Given the description of an element on the screen output the (x, y) to click on. 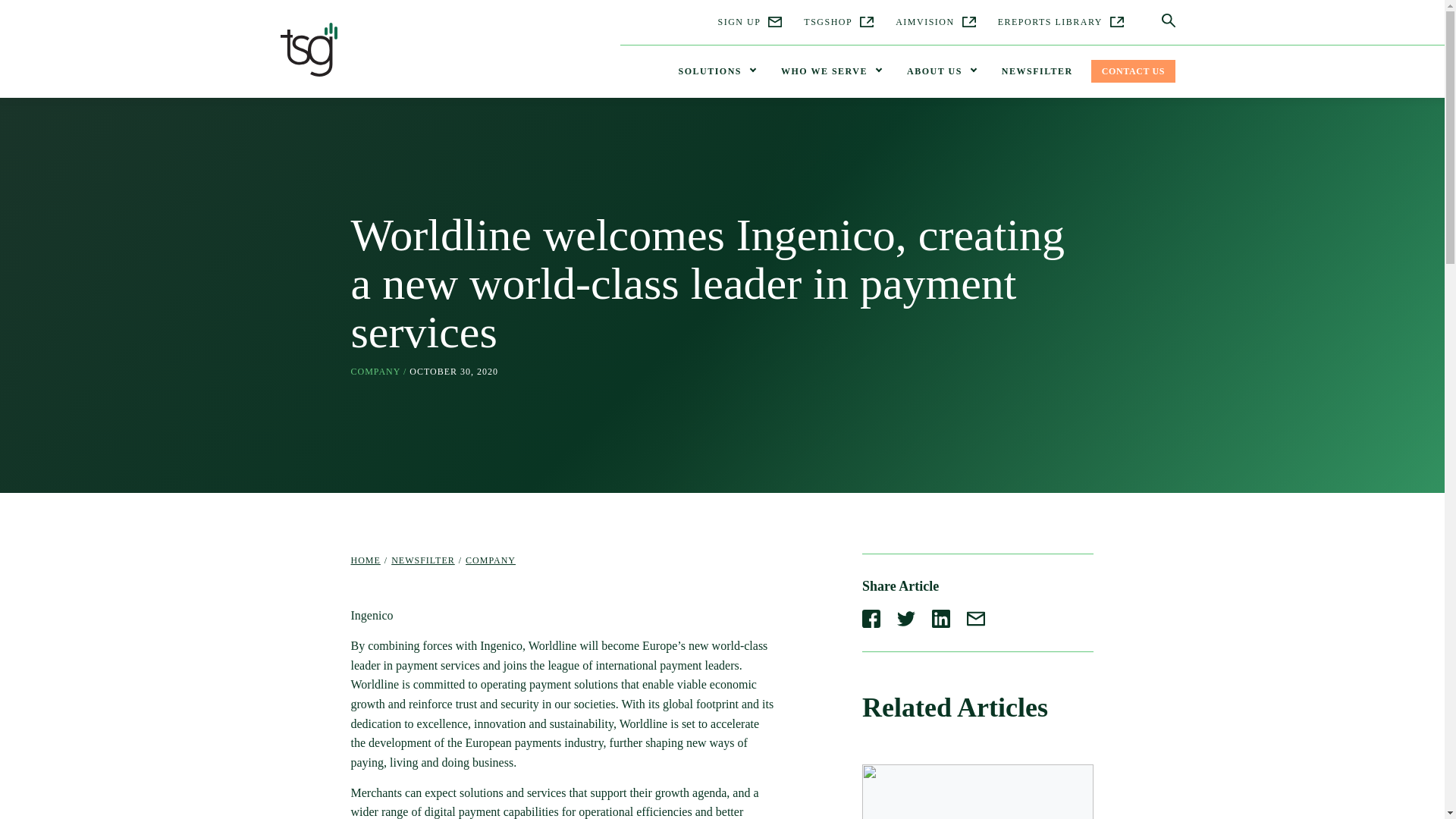
ABOUT US (941, 70)
WHO WE SERVE (830, 70)
SIGN UP (749, 22)
CONTACT US (1132, 70)
AIMVISION (935, 22)
NEWSFILTER (1037, 70)
TSGSHOP (838, 22)
TSG home (309, 52)
SOLUTIONS (715, 70)
EREPORTS LIBRARY (1060, 22)
